Given the description of an element on the screen output the (x, y) to click on. 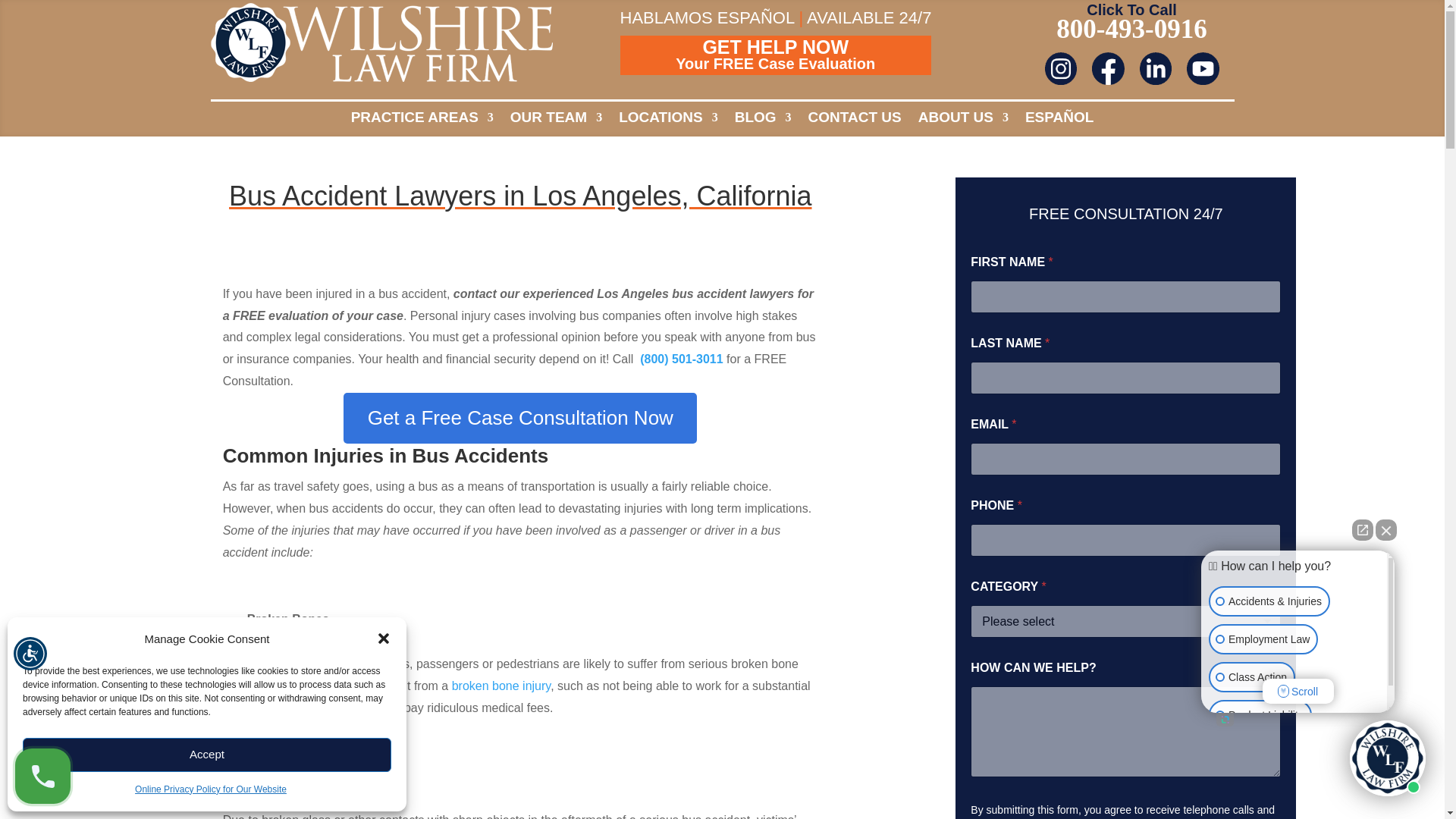
Accept (207, 754)
PRACTICE AREAS (421, 120)
LOCATIONS (775, 64)
linkedin-icon-blue (667, 120)
youtube-icon-blue (775, 55)
facebook-icon-blue (1155, 68)
Accessibility Menu (1203, 68)
Online Privacy Policy for Our Website (1108, 68)
instagram-icon-blue (29, 653)
OUR TEAM (210, 789)
800-493-0916 (1061, 68)
